Given the description of an element on the screen output the (x, y) to click on. 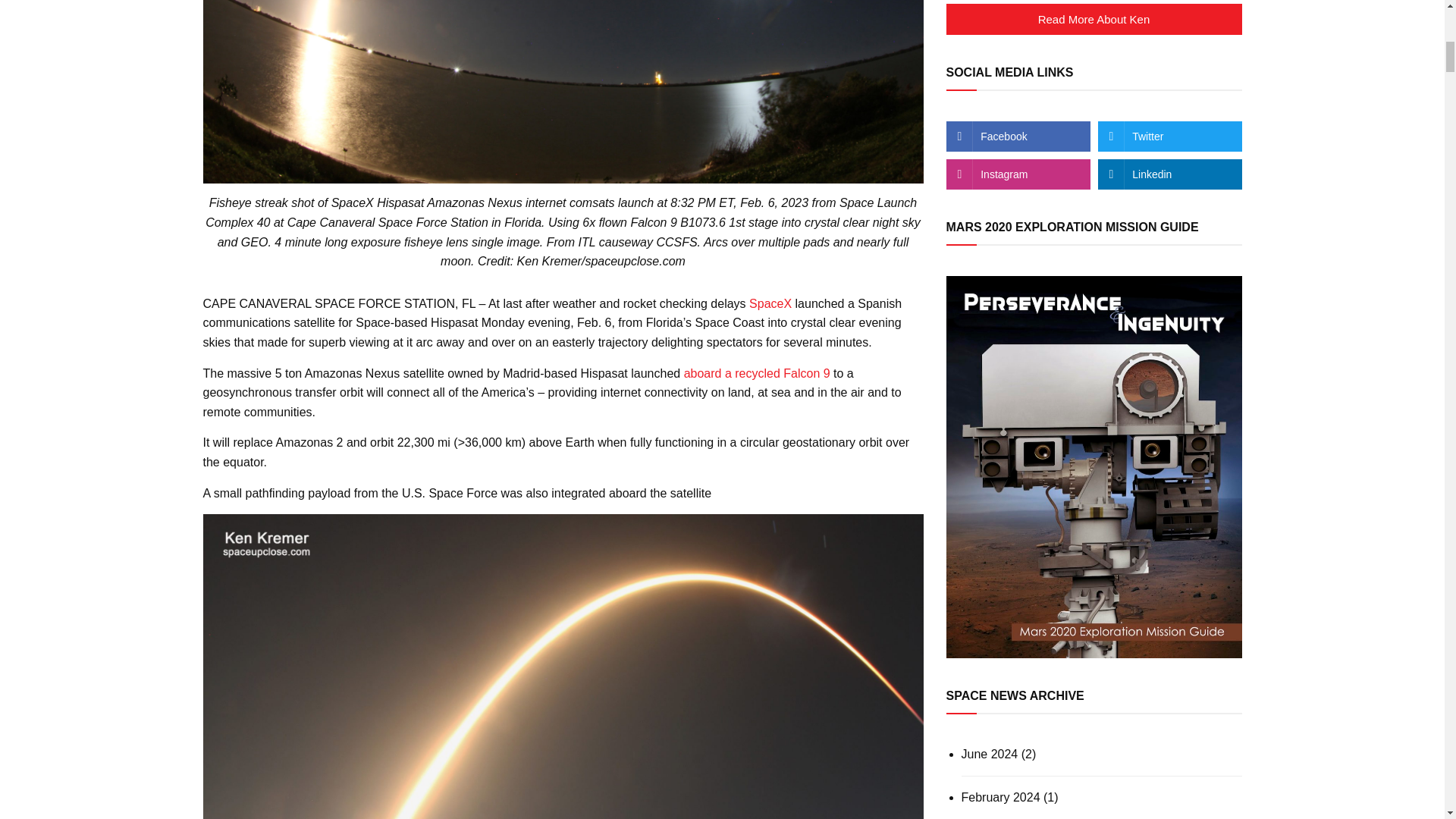
aboard a recycled Falcon 9 (756, 373)
SpaceX (770, 303)
